Given the description of an element on the screen output the (x, y) to click on. 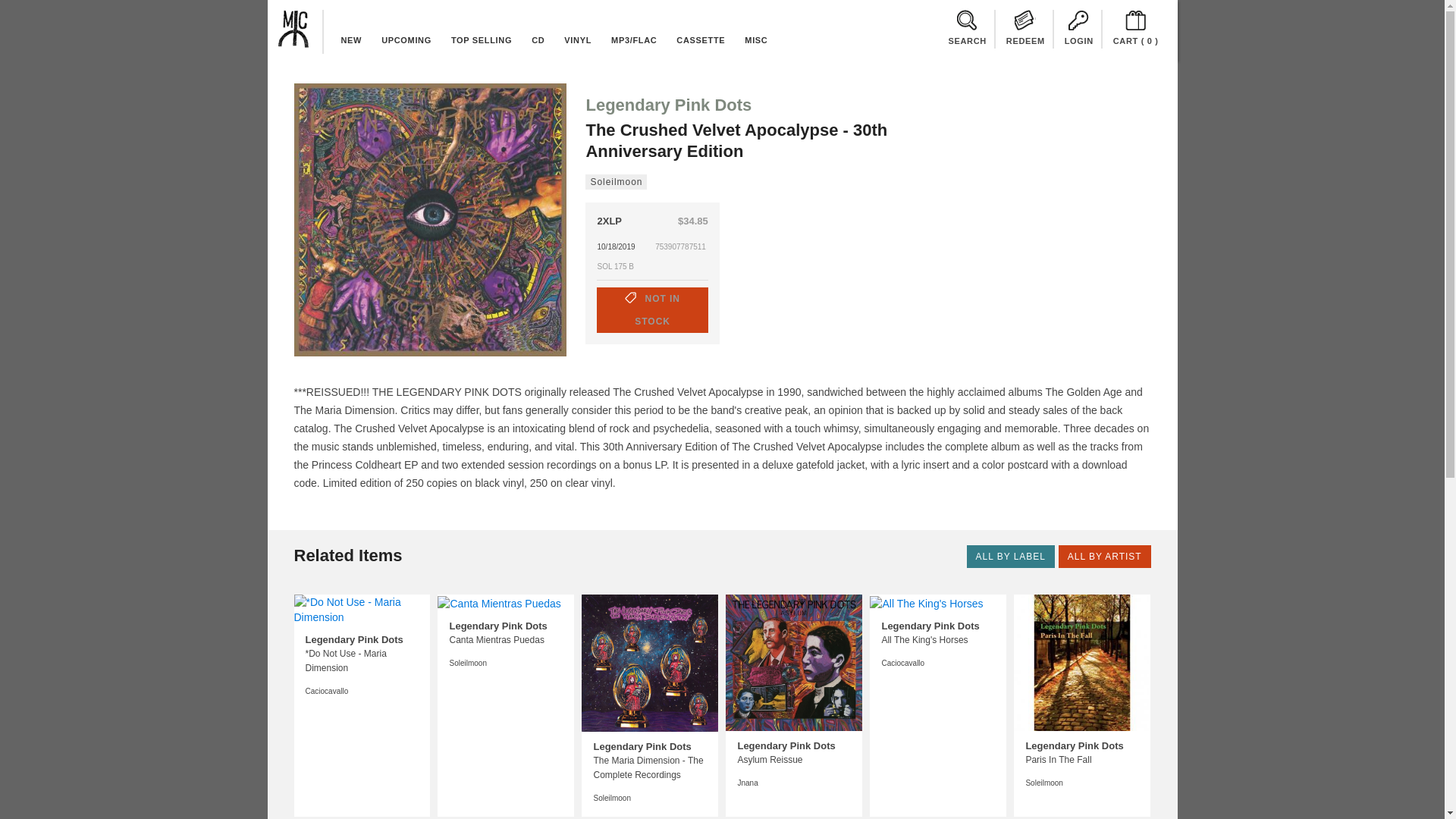
Soleilmoon (615, 181)
SEARCH (966, 28)
TOP SELLING (481, 39)
NEW (350, 39)
UPCOMING (406, 39)
NOT IN STOCK (651, 309)
VINYL (577, 39)
Legendary Pink Dots (668, 104)
ALL BY LABEL (1010, 556)
Midheaven (294, 28)
MISC (756, 39)
ALL BY ARTIST (1104, 556)
CASSETTE (700, 39)
CD (537, 39)
REDEEM (1025, 28)
